Given the description of an element on the screen output the (x, y) to click on. 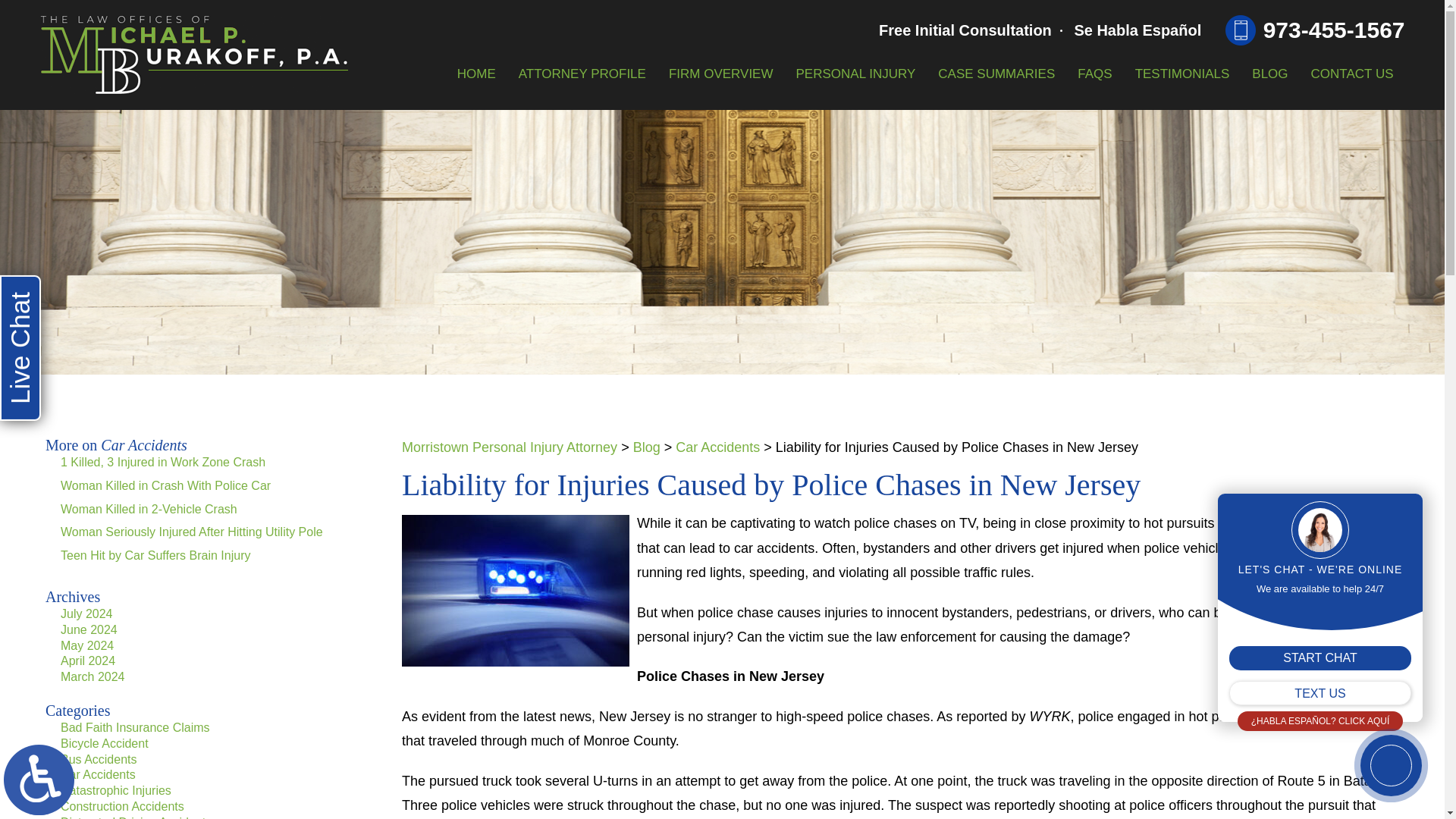
FAQS (1093, 73)
ATTORNEY PROFILE (582, 73)
CASE SUMMARIES (995, 73)
PoliceCrash (514, 590)
FIRM OVERVIEW (721, 73)
PERSONAL INJURY (855, 73)
HOME (475, 73)
TESTIMONIALS (1182, 73)
973-455-1567 (1315, 30)
